Given the description of an element on the screen output the (x, y) to click on. 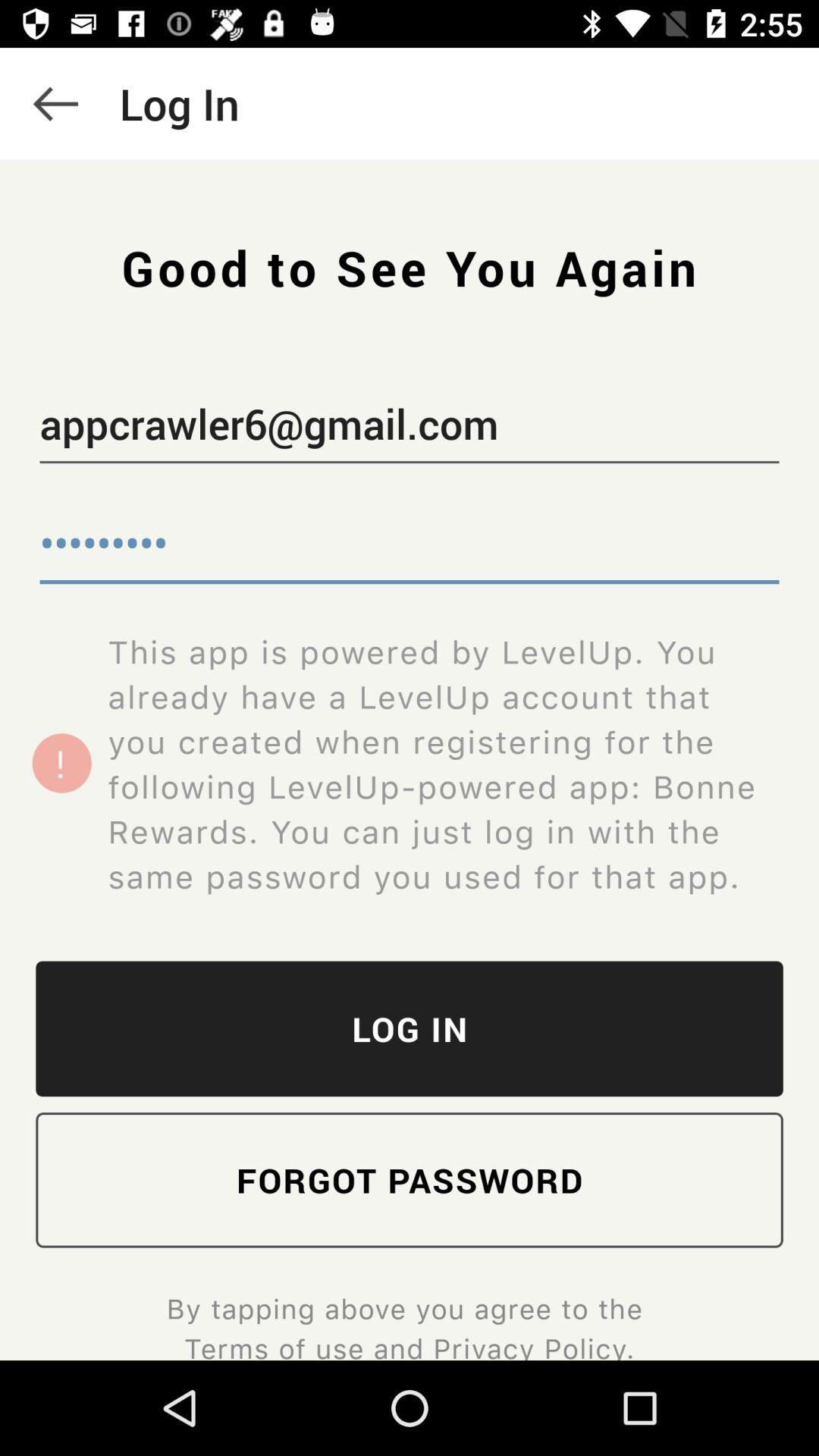
press item below appcrawler6@gmail.com item (409, 545)
